Given the description of an element on the screen output the (x, y) to click on. 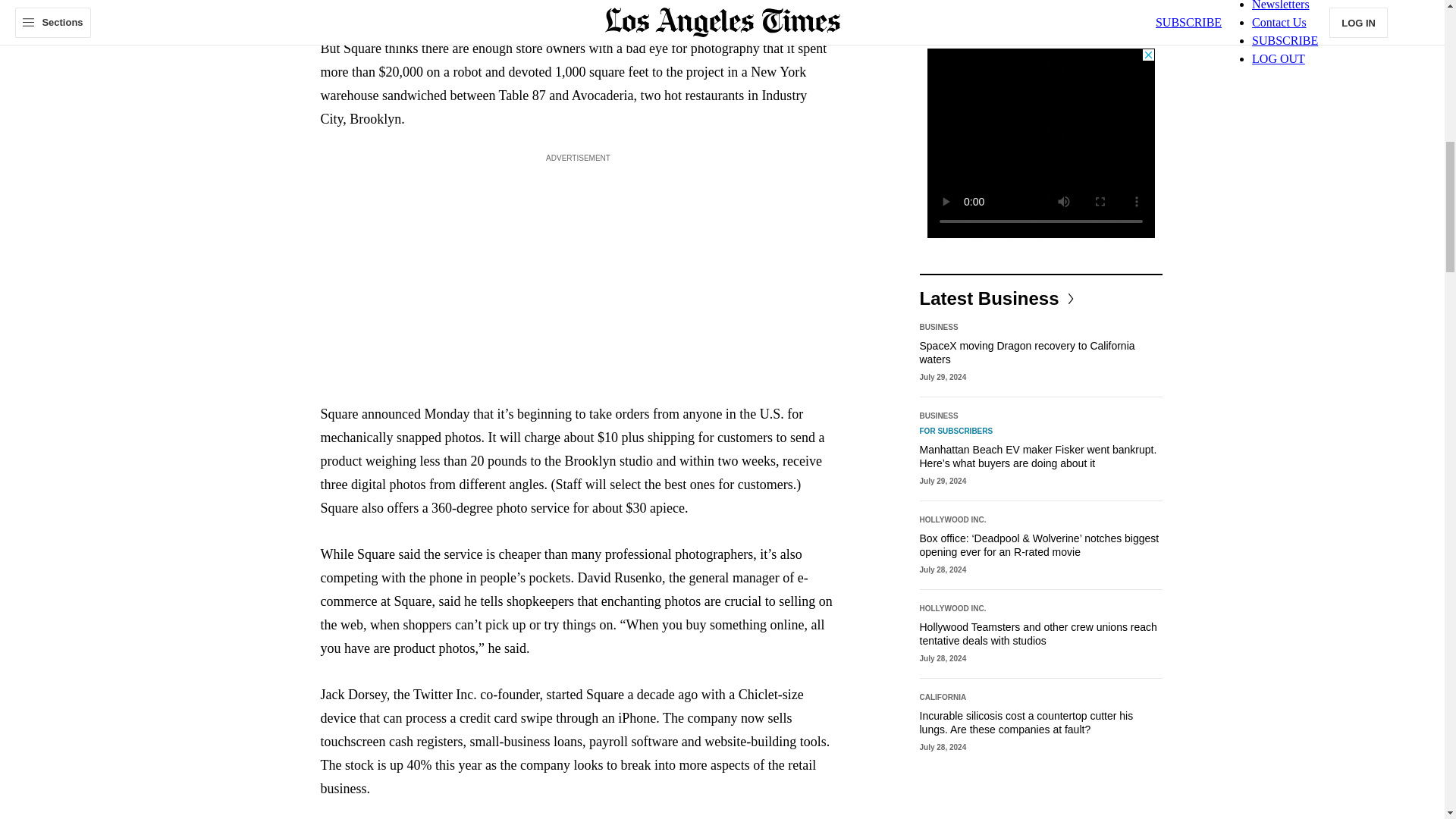
3rd party ad content (1040, 143)
